Given the description of an element on the screen output the (x, y) to click on. 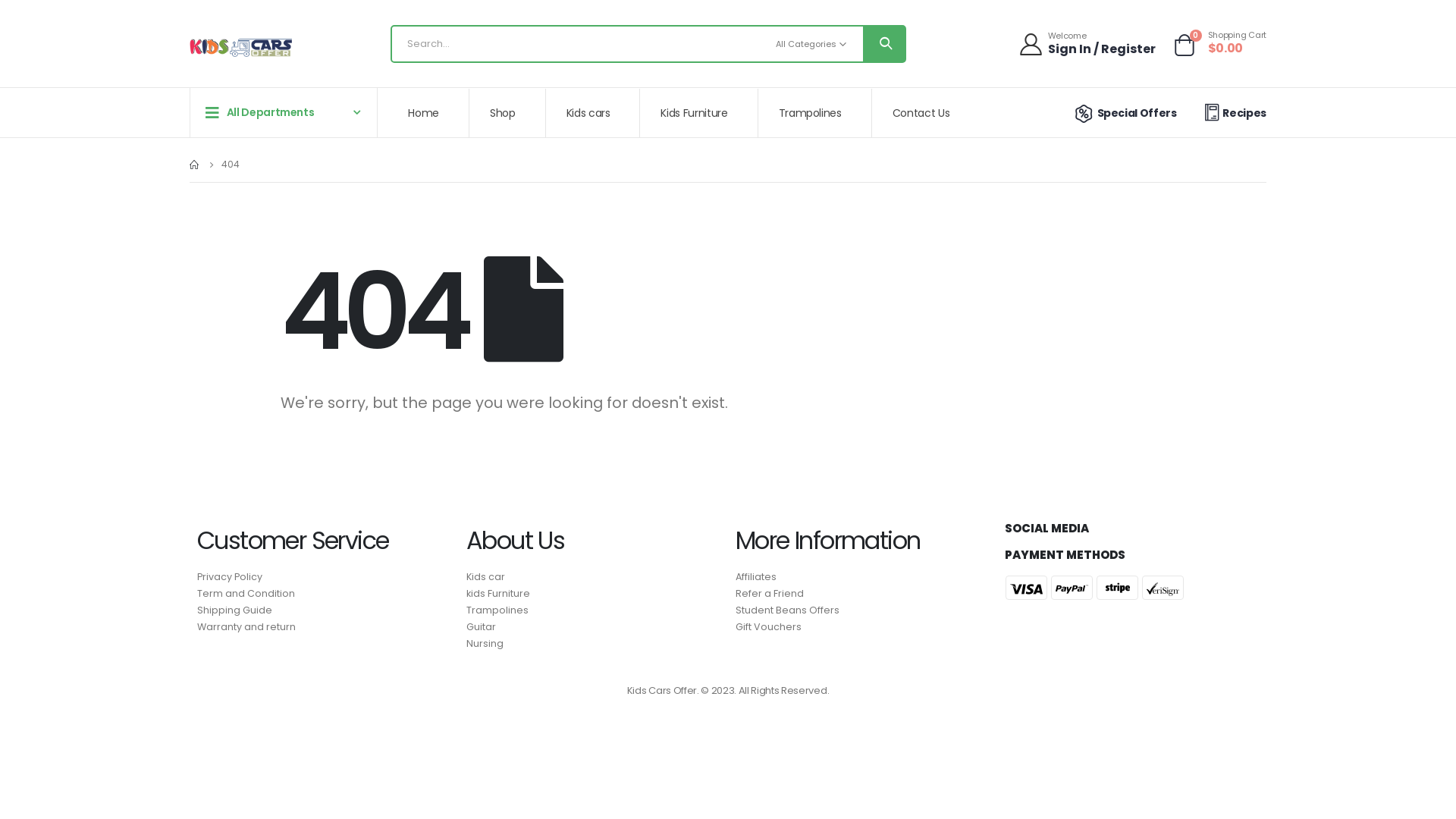
Trampolines Element type: text (593, 610)
Kids cars Element type: text (593, 112)
Guitar Element type: text (593, 626)
Affiliates Element type: text (862, 576)
Contact Us Element type: text (925, 112)
Privacy Policy Element type: text (324, 576)
kids Furniture Element type: text (593, 593)
Home Element type: text (428, 112)
Warranty and return Element type: text (324, 626)
Gift Vouchers Element type: text (862, 626)
Student Beans Offers Element type: text (862, 610)
Shop Element type: text (508, 112)
Search Element type: hover (883, 43)
Kids car Element type: text (593, 576)
Nursing Element type: text (593, 643)
Trampolines Element type: text (815, 112)
Refer a Friend Element type: text (862, 593)
Welcome
Sign In / Register Element type: text (1088, 43)
Kids Furniture Element type: text (698, 112)
Term and Condition Element type: text (324, 593)
Shipping Guide Element type: text (324, 610)
Go to Home Page Element type: hover (194, 164)
kidscarsoffer -  Element type: hover (240, 47)
